Given the description of an element on the screen output the (x, y) to click on. 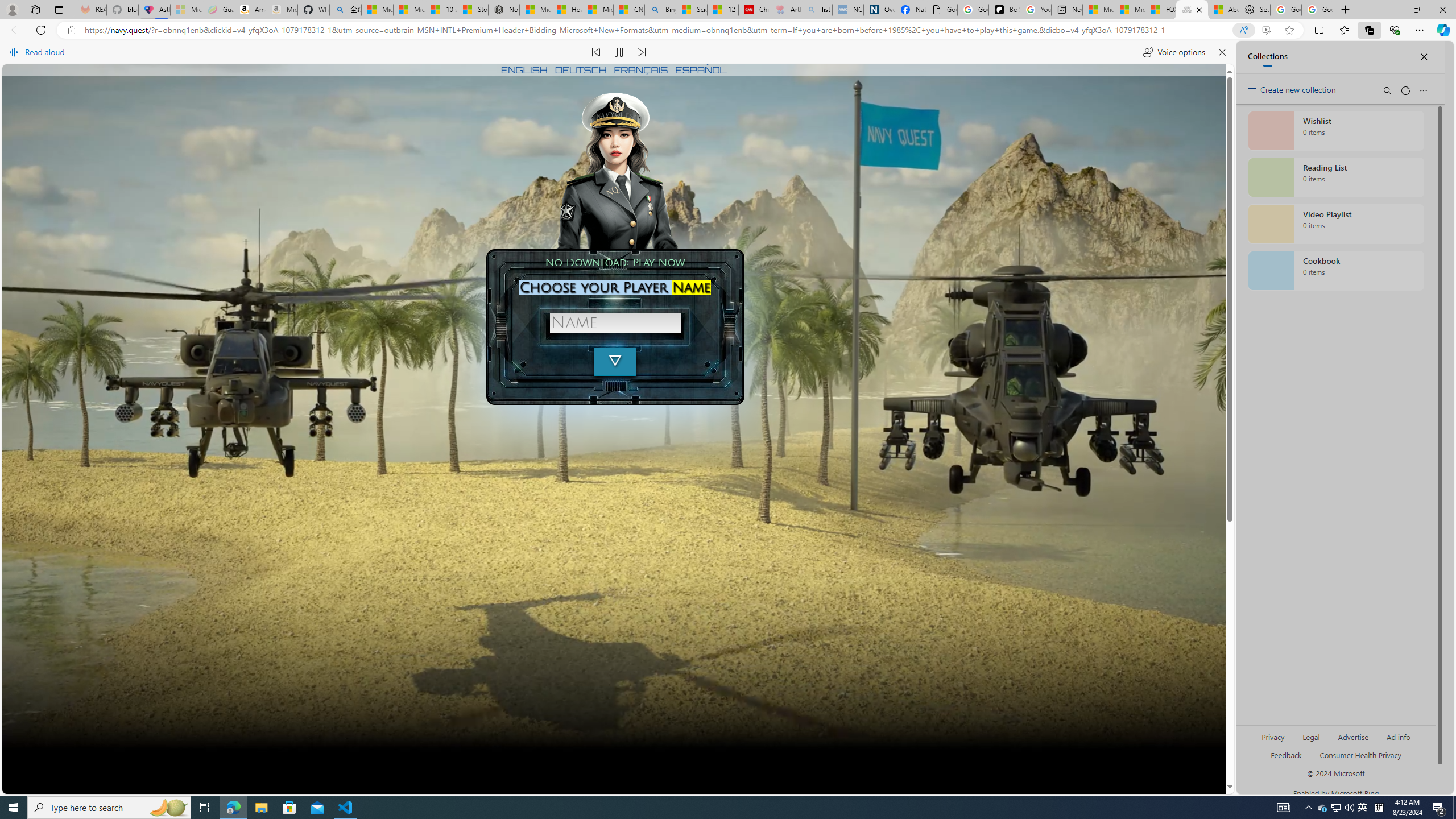
Navy Quest (1192, 9)
Copilot (Ctrl+Shift+.) (1442, 29)
Back (13, 29)
Browser essentials (1394, 29)
Workspaces (34, 9)
Refresh (40, 29)
Close tab (1198, 9)
Read next paragraph (641, 52)
Google Analytics Opt-out Browser Add-on Download Page (941, 9)
Pause read aloud (Ctrl+Shift+U) (618, 52)
How I Got Rid of Microsoft Edge's Unnecessary Features (566, 9)
